Given the description of an element on the screen output the (x, y) to click on. 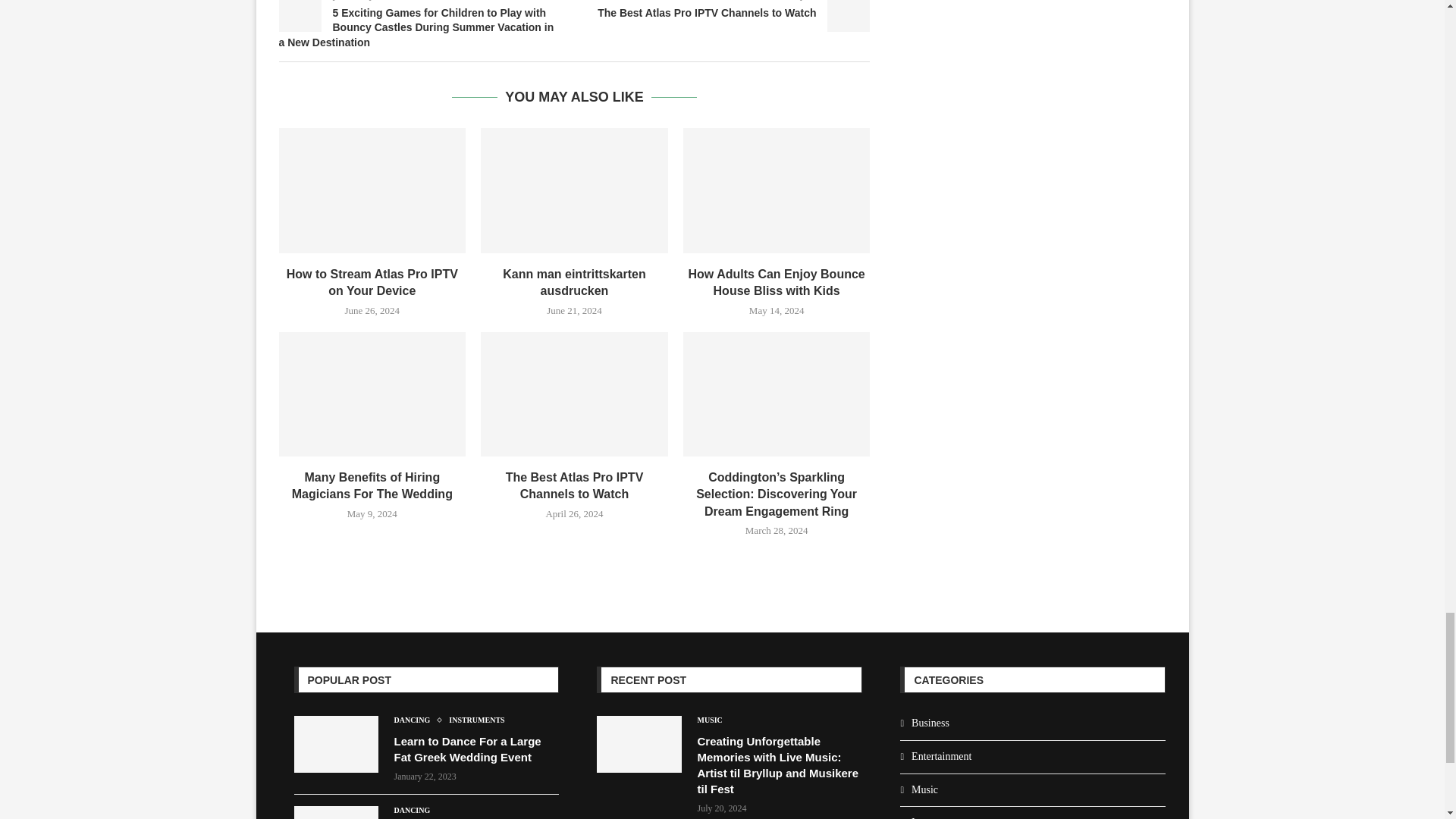
The Best Atlas Pro IPTV Channels to Watch (574, 394)
Many Benefits of Hiring Magicians For The Wedding (372, 394)
How to Stream Atlas Pro IPTV on Your Device (372, 189)
Kann man eintrittskarten ausdrucken (574, 189)
How Adults Can Enjoy Bounce House Bliss with Kids (776, 189)
